Given the description of an element on the screen output the (x, y) to click on. 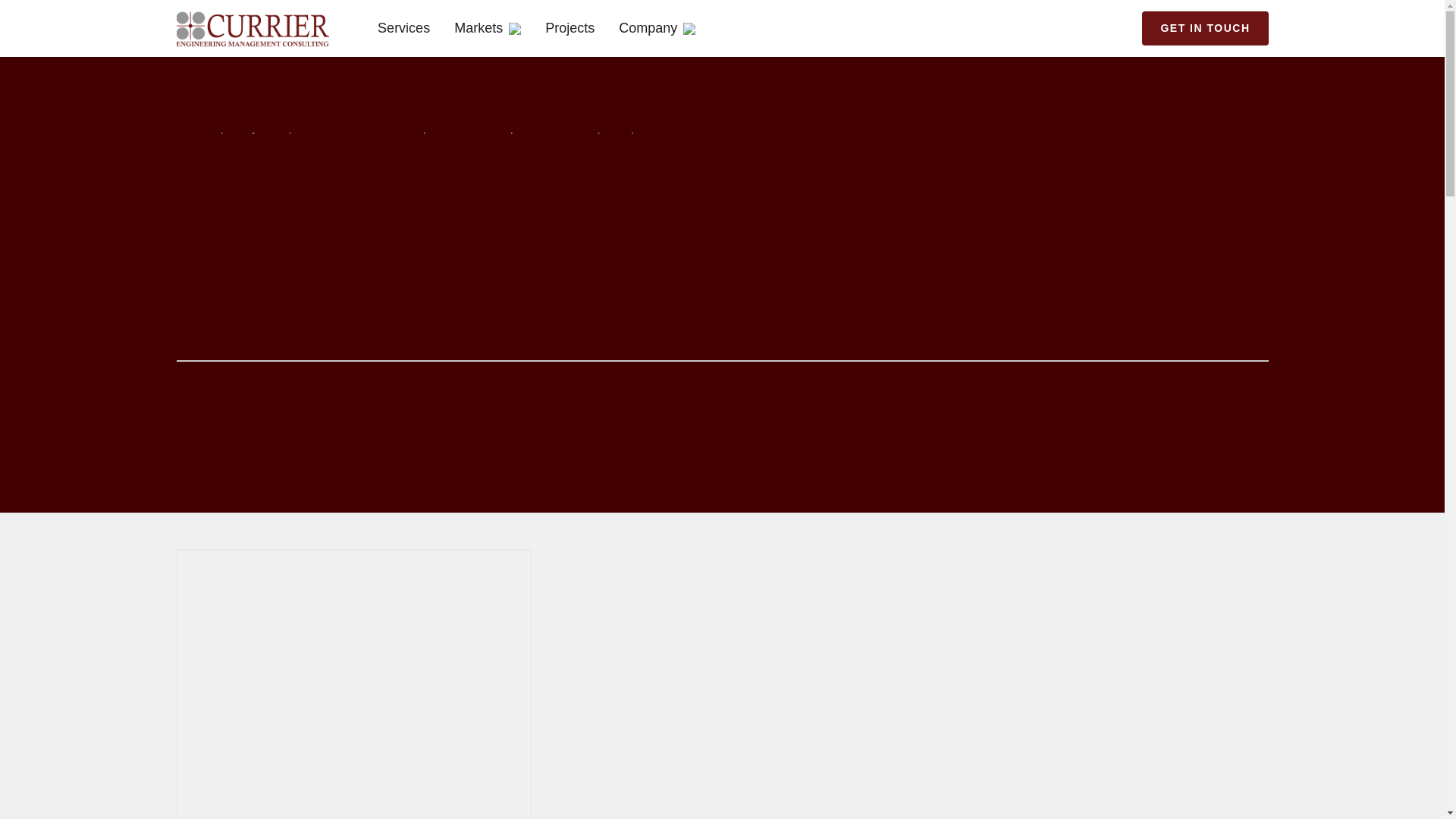
Markets (487, 28)
Projects (569, 28)
GET IN TOUCH (1204, 28)
Services (403, 28)
Home (194, 125)
Projects (256, 125)
